Given the description of an element on the screen output the (x, y) to click on. 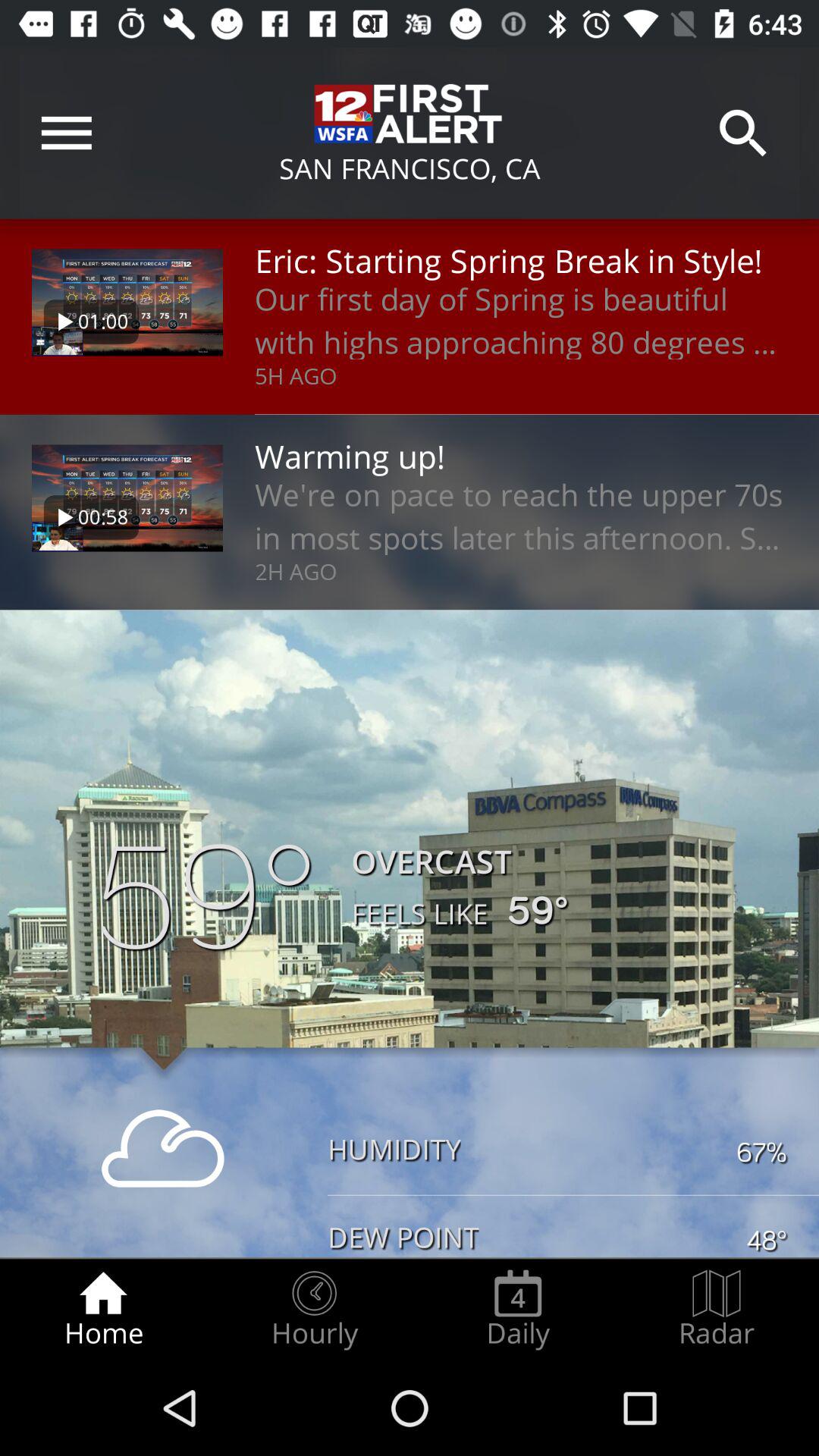
choose the item to the right of daily item (716, 1309)
